Given the description of an element on the screen output the (x, y) to click on. 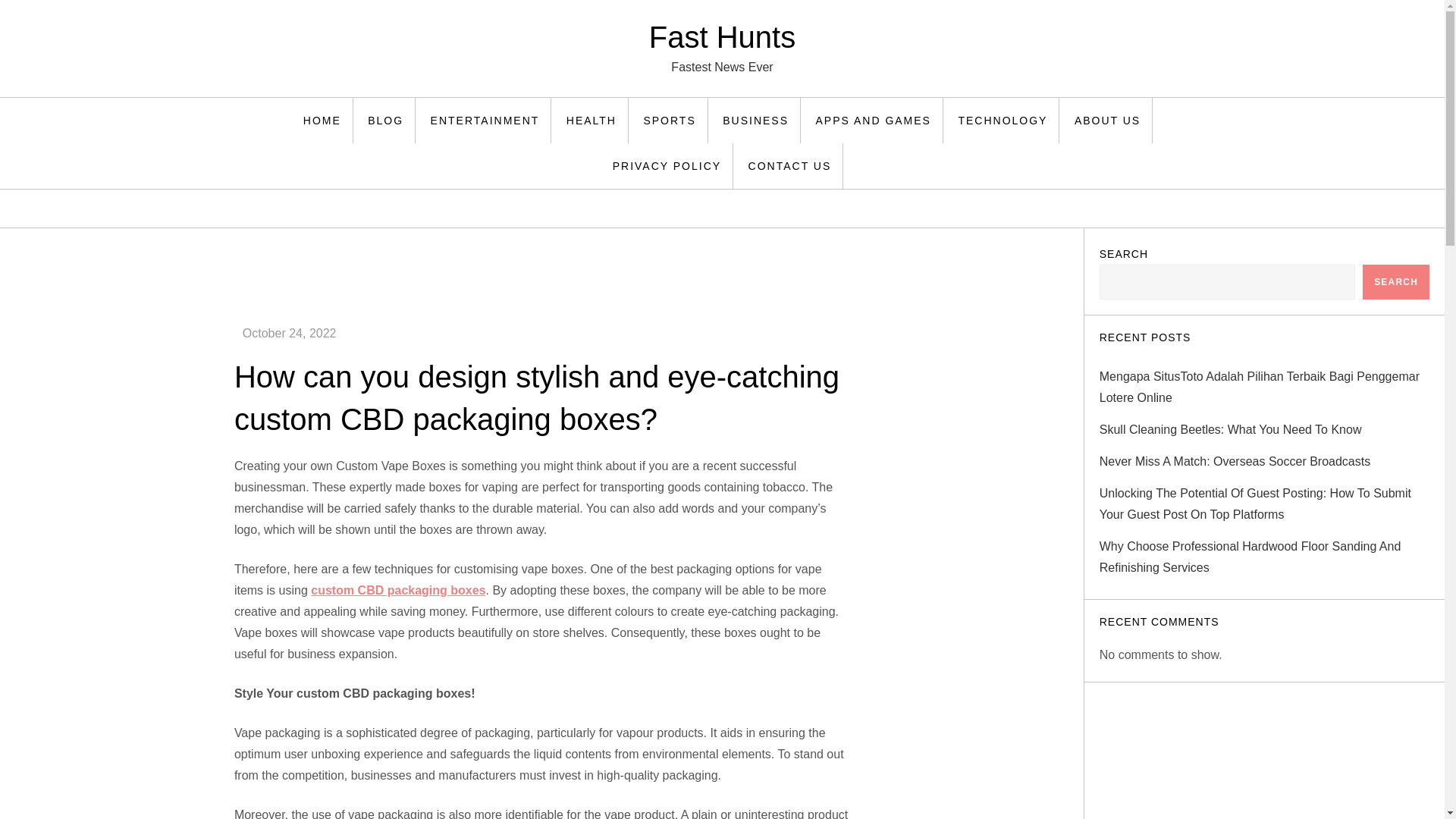
SPORTS (669, 120)
Skull Cleaning Beetles: What You Need To Know (1230, 429)
BUSINESS (755, 120)
October 24, 2022 (289, 332)
HEALTH (591, 120)
TECHNOLOGY (1002, 120)
CONTACT US (790, 166)
ENTERTAINMENT (485, 120)
ABOUT US (1107, 120)
BLOG (385, 120)
